Given the description of an element on the screen output the (x, y) to click on. 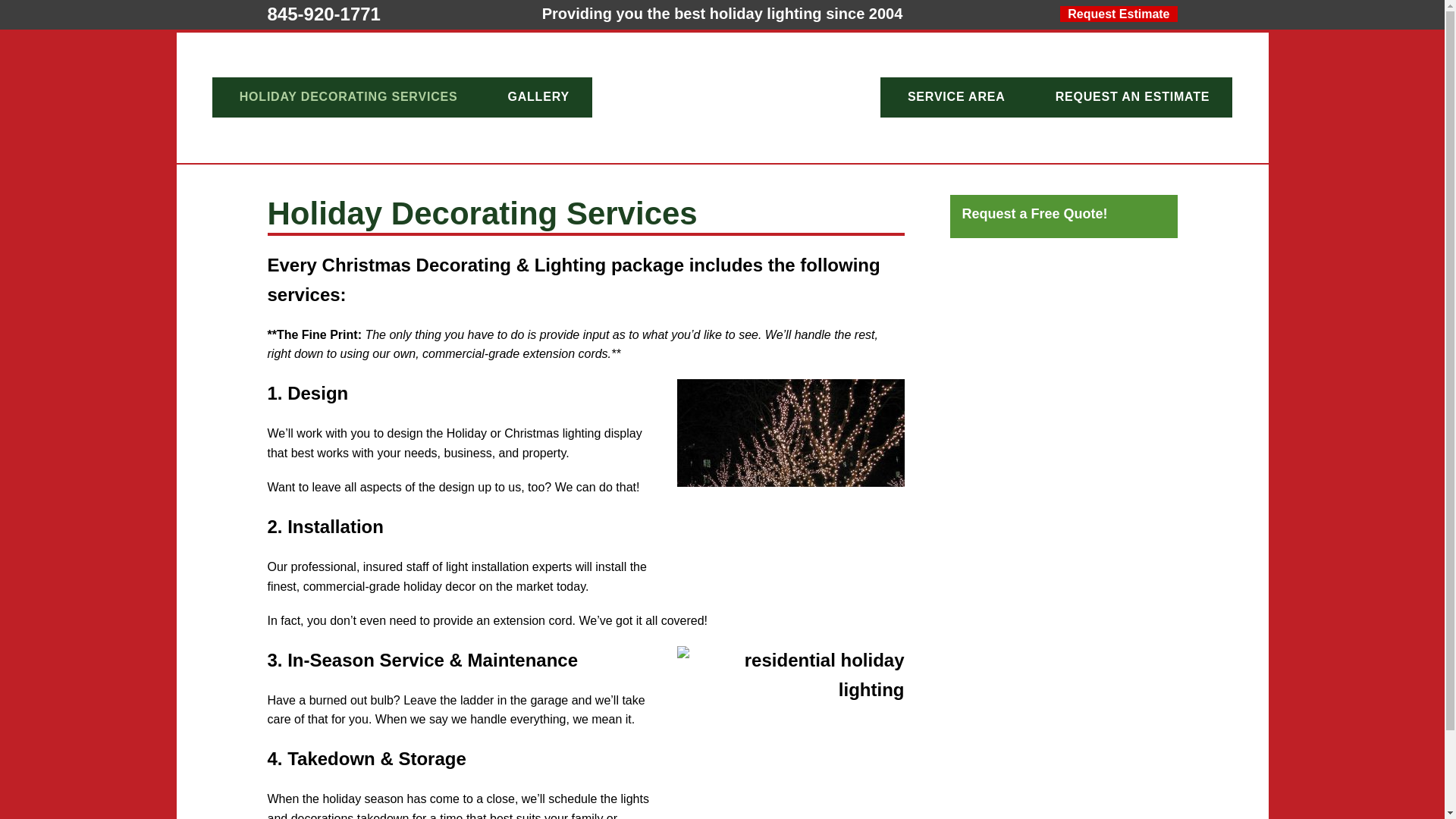
REQUEST AN ESTIMATE (1132, 96)
Request Estimate (1118, 13)
HOLIDAY DECORATING SERVICES (349, 96)
GALLERY (537, 96)
SERVICE AREA (956, 96)
